Given the description of an element on the screen output the (x, y) to click on. 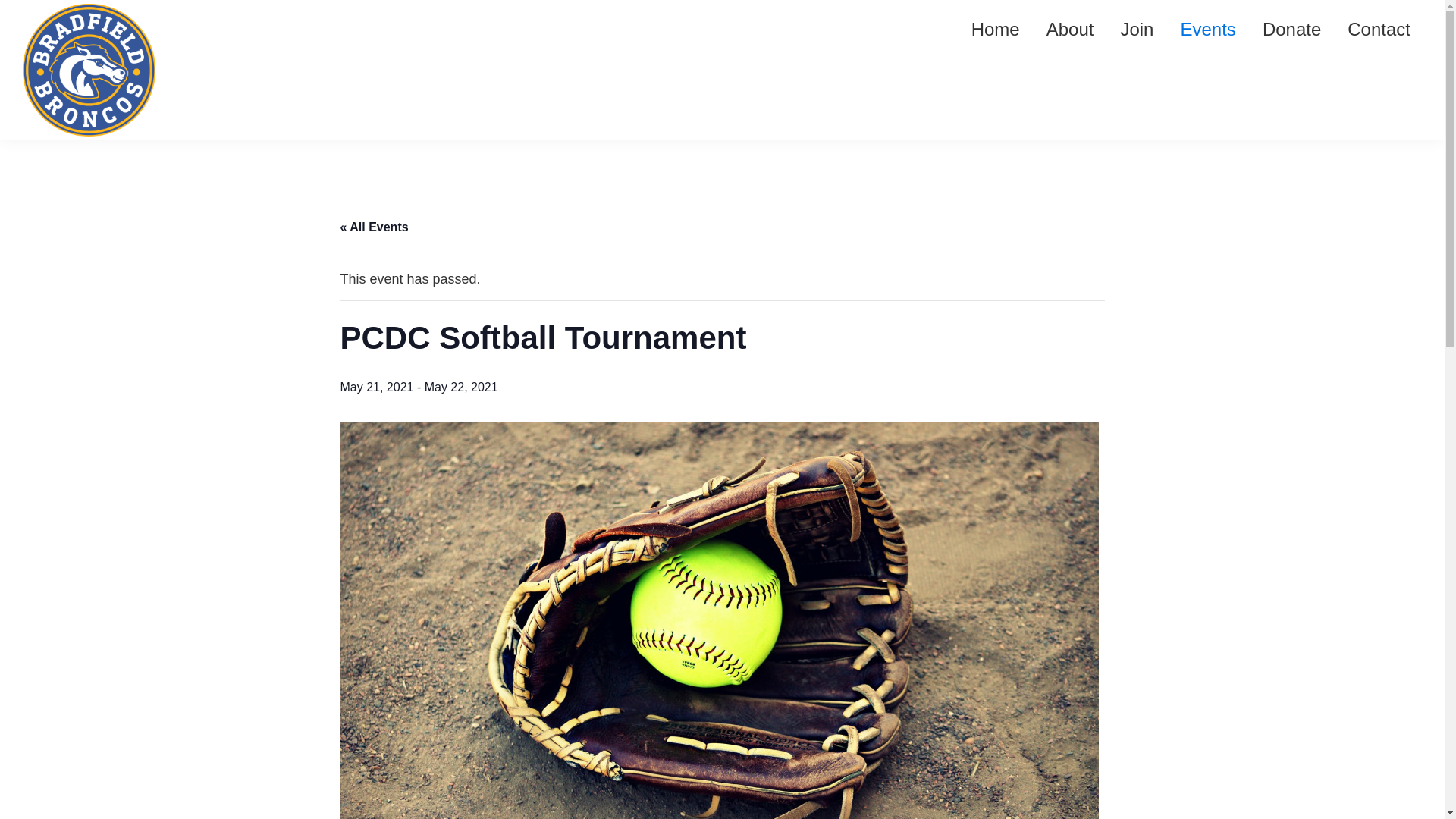
Events (1207, 29)
About (1070, 29)
Home (994, 29)
Donate (1291, 29)
Join (1136, 29)
Contact (1379, 29)
